Given the description of an element on the screen output the (x, y) to click on. 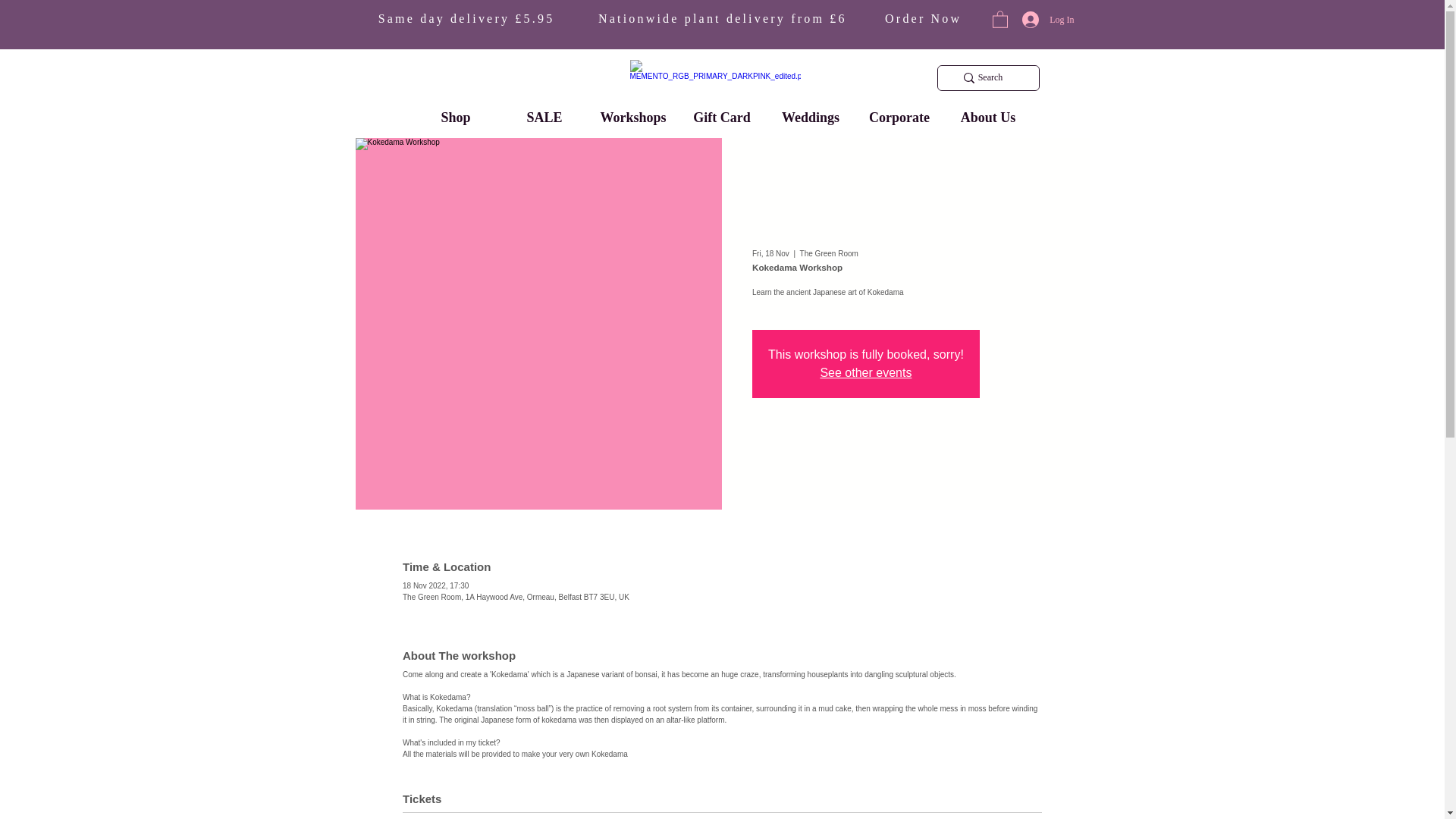
Log In (1047, 19)
See other events (865, 372)
Workshops (632, 116)
Shop (454, 116)
Gift Card (722, 116)
       Order Now (904, 18)
Corporate (899, 116)
Weddings (809, 116)
SALE (544, 116)
